Given the description of an element on the screen output the (x, y) to click on. 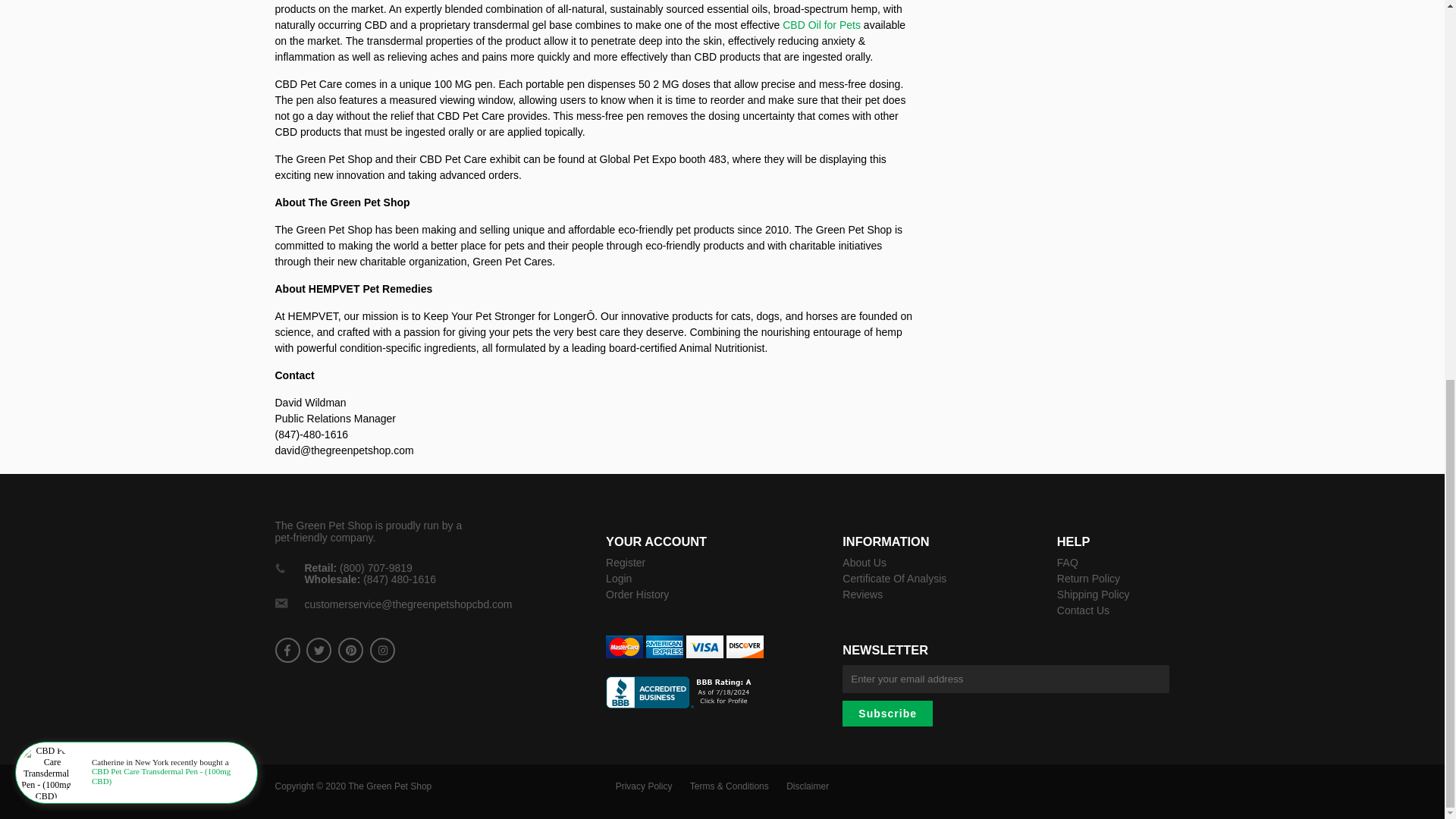
CBD Oil for Pets (823, 24)
Page 1 (596, 412)
